Given the description of an element on the screen output the (x, y) to click on. 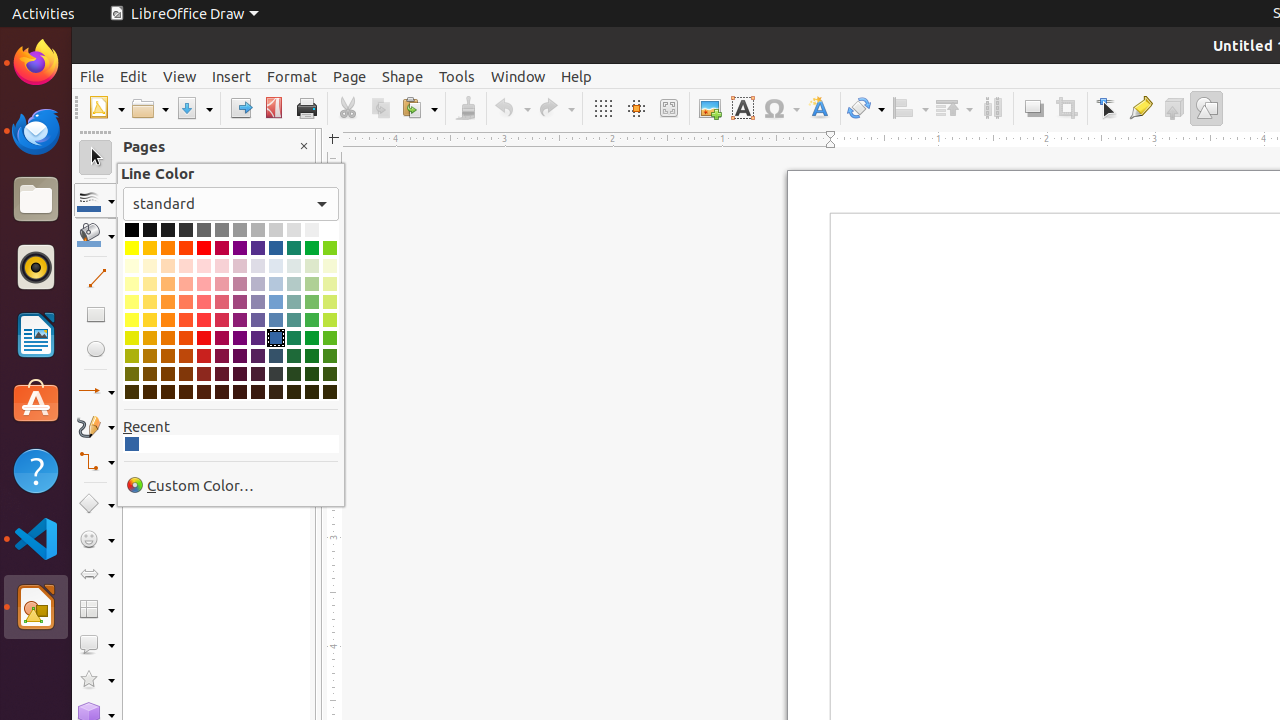
Dark Gray 2 Element type: list-item (186, 230)
Fill Color Element type: push-button (259, 144)
Light Magenta 4 Element type: list-item (222, 266)
Dark Magenta 2 Element type: list-item (222, 356)
Brick Element type: list-item (186, 248)
